Given the description of an element on the screen output the (x, y) to click on. 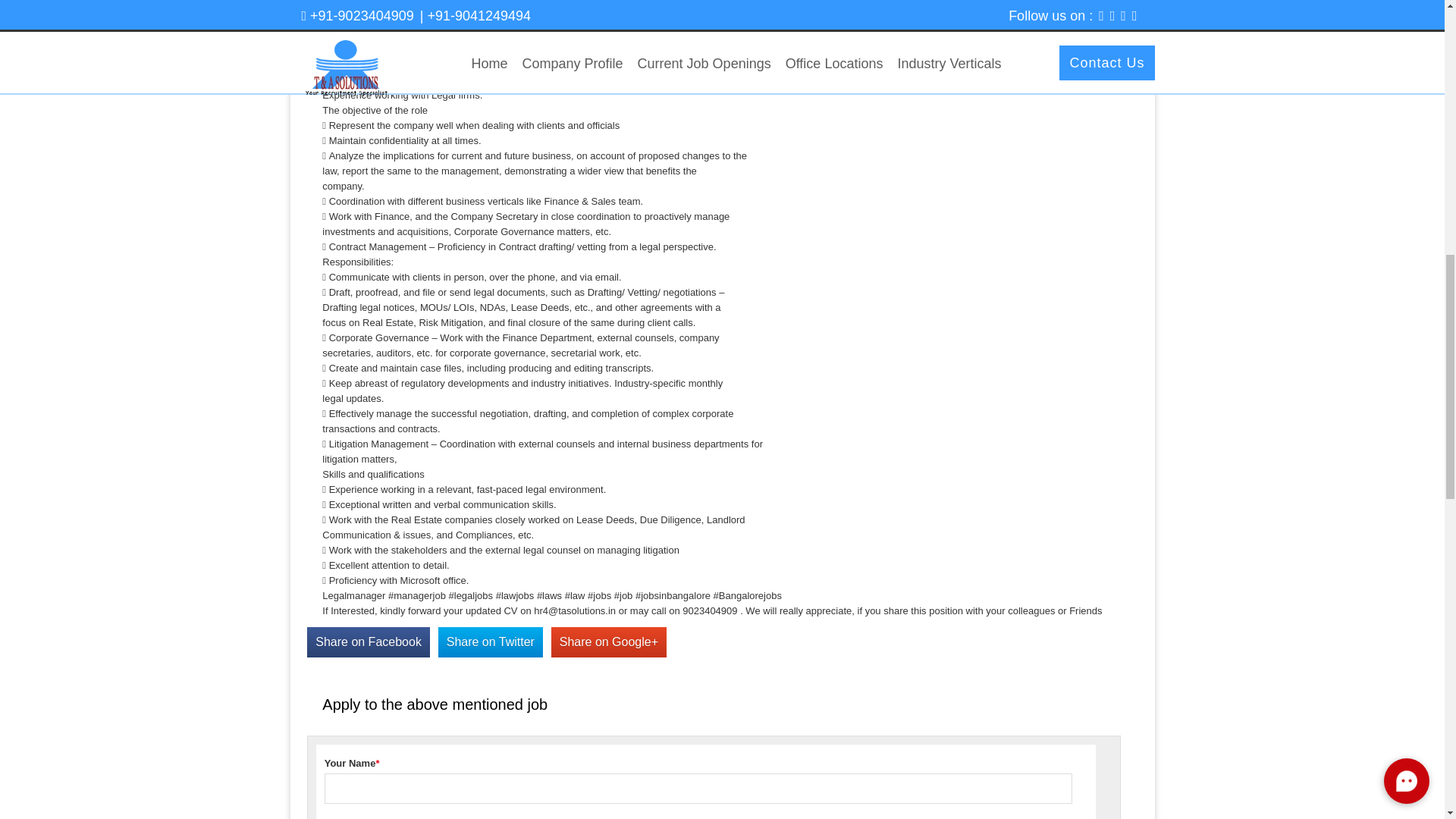
Share on Facebook (368, 642)
Share on Twitter (490, 642)
